Given the description of an element on the screen output the (x, y) to click on. 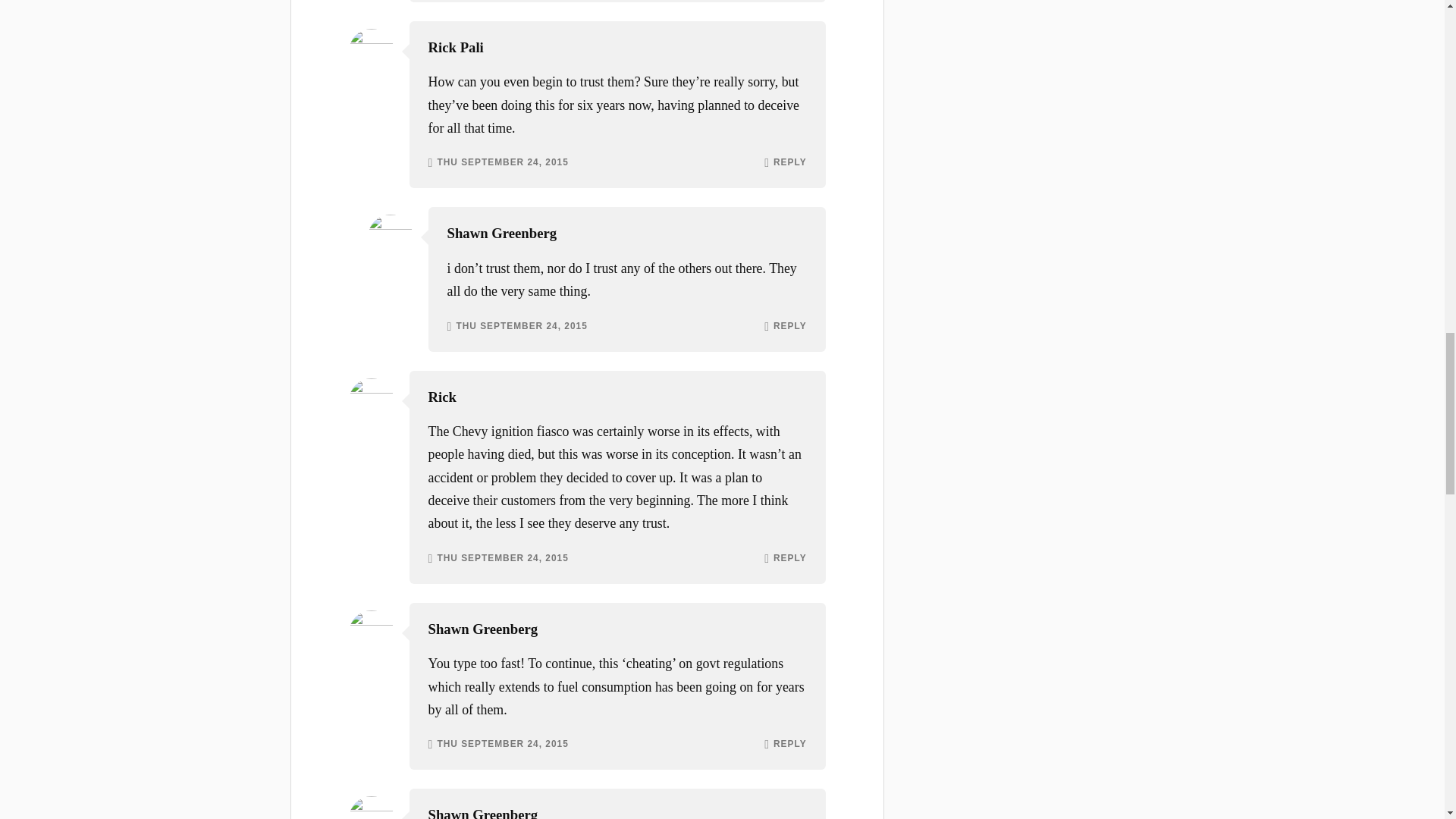
THU SEPTEMBER 24, 2015 (501, 162)
REPLY (789, 558)
THU SEPTEMBER 24, 2015 (501, 744)
REPLY (789, 162)
REPLY (789, 326)
REPLY (789, 744)
THU SEPTEMBER 24, 2015 (501, 558)
THU SEPTEMBER 24, 2015 (520, 326)
